Given the description of an element on the screen output the (x, y) to click on. 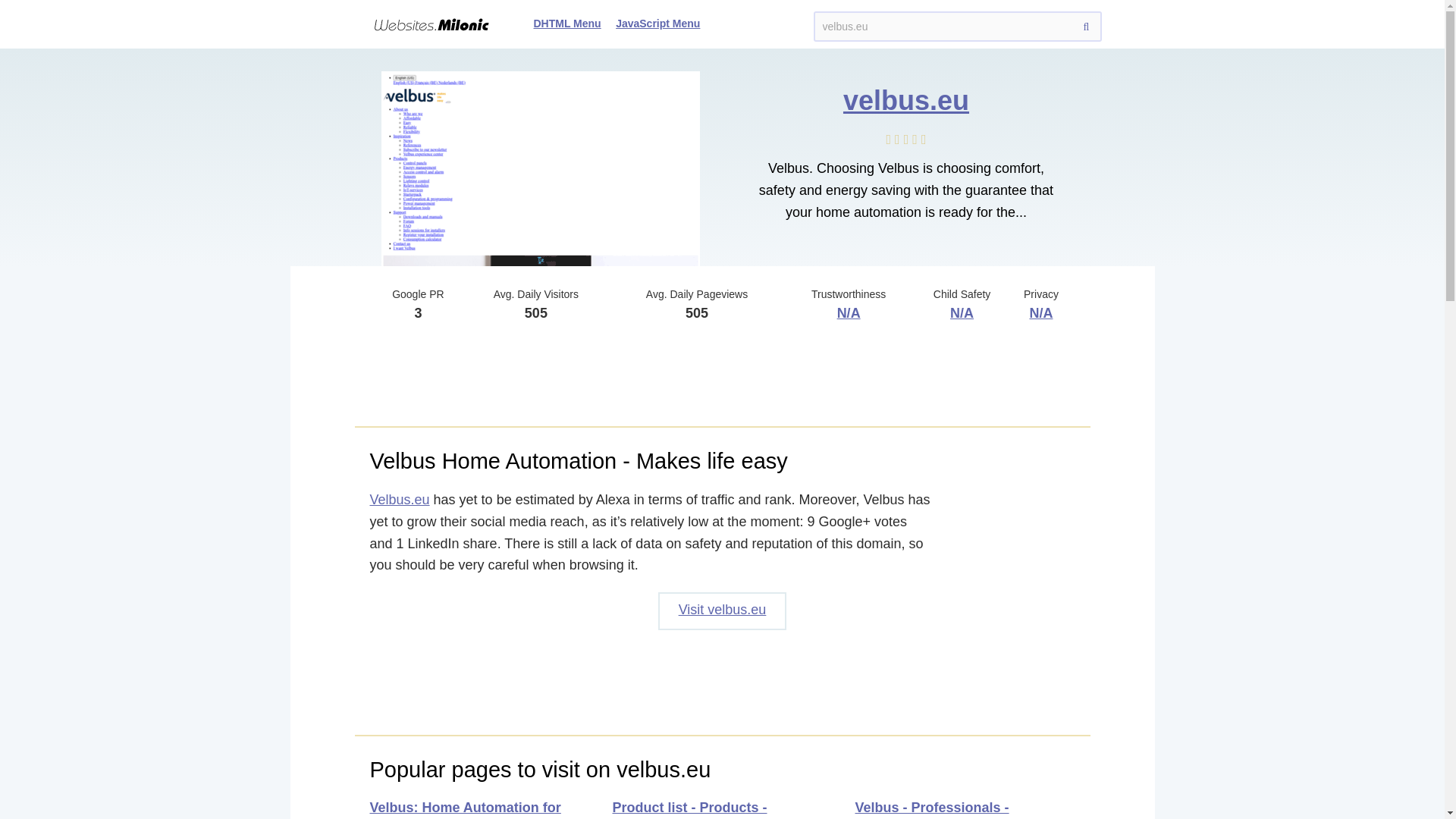
velbus.eu (956, 26)
JavaScript Menu (657, 23)
Velbus: Home Automation for everyone (464, 809)
Visit velbus.eu (722, 610)
Velbus - Professionals - Consumption (932, 809)
DHTML Menu (567, 23)
Velbus.eu (399, 499)
velbus.eu (906, 100)
